Given the description of an element on the screen output the (x, y) to click on. 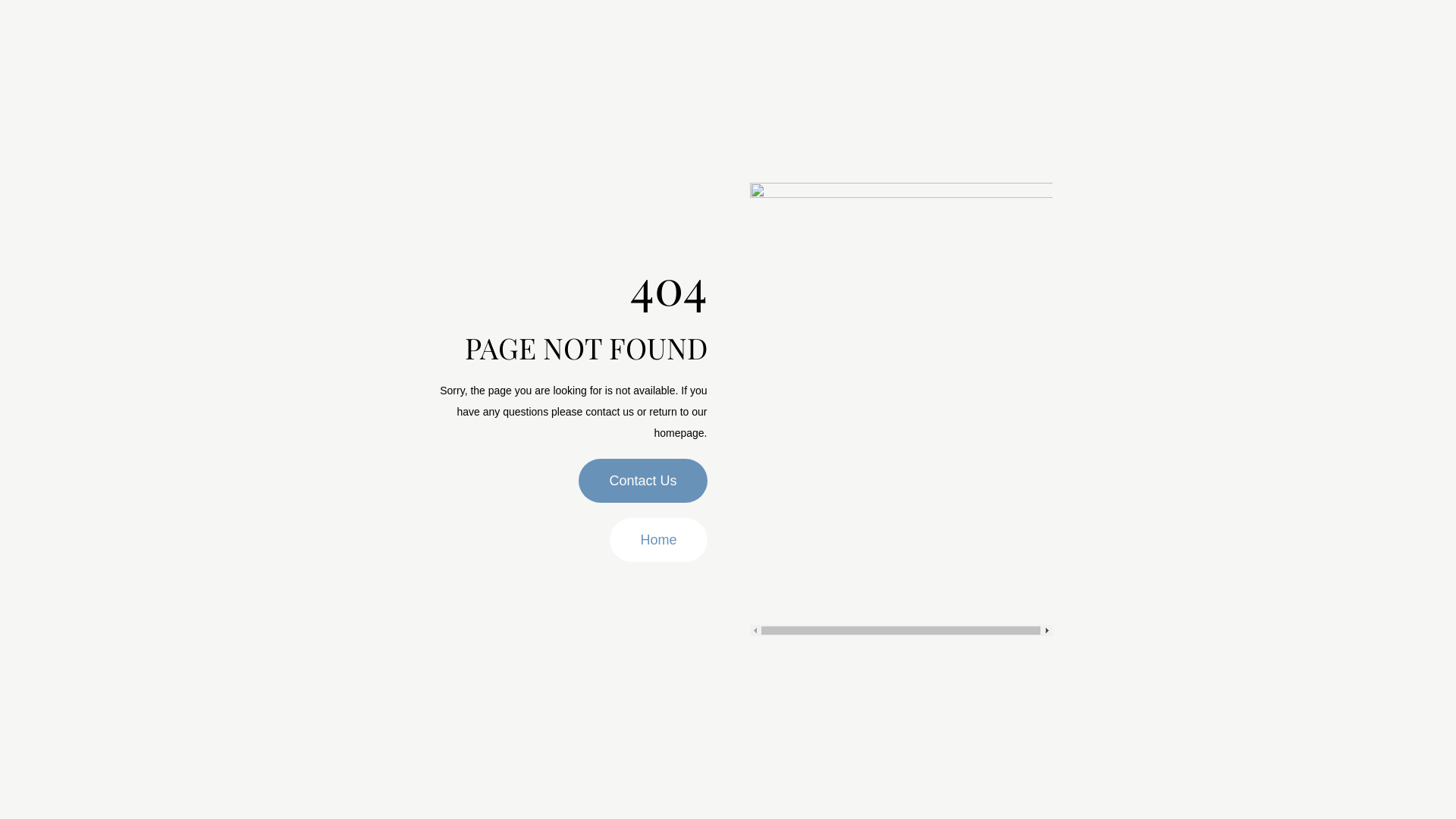
Contact Us Element type: text (642, 480)
Home Element type: text (657, 539)
